Given the description of an element on the screen output the (x, y) to click on. 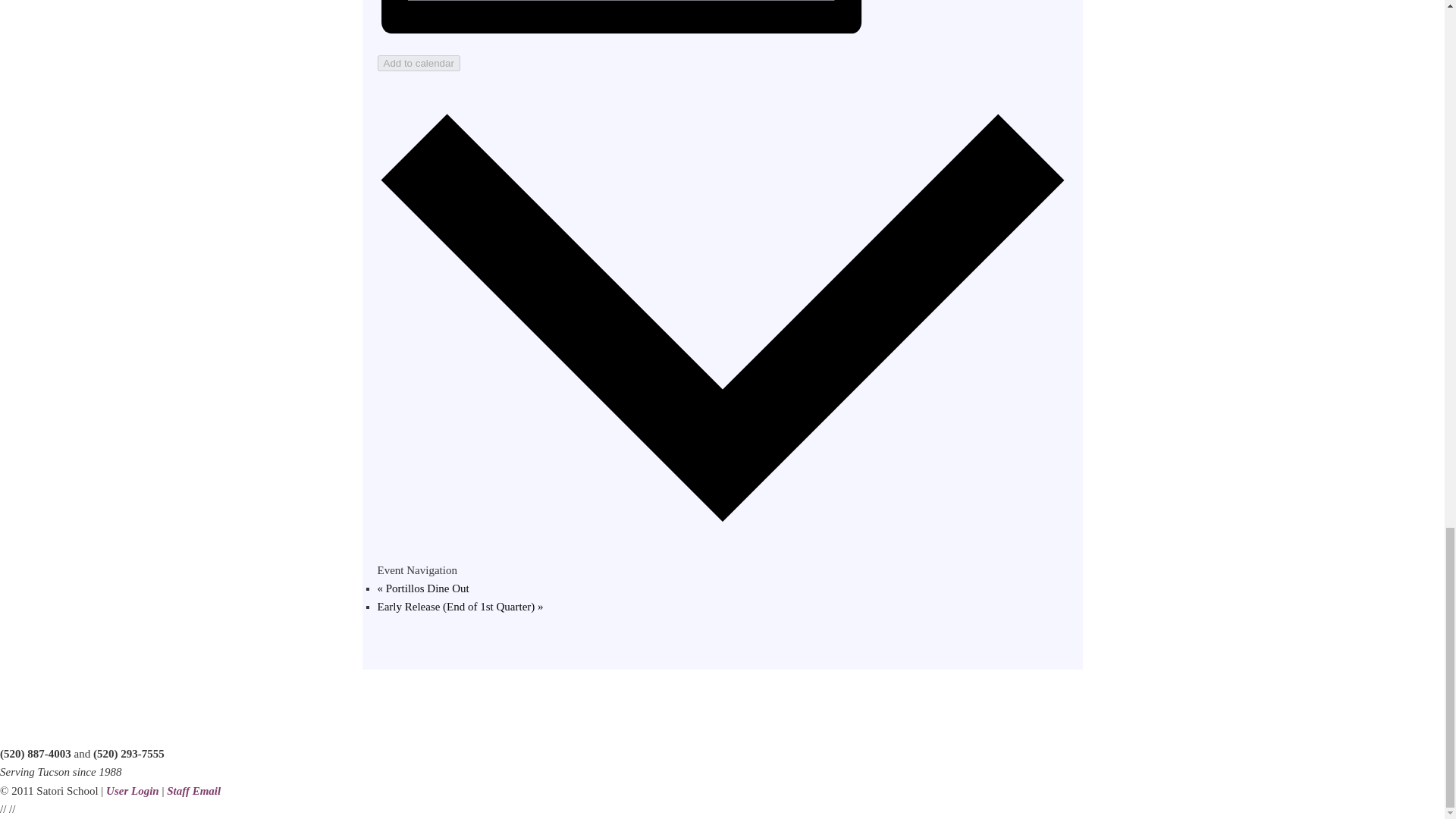
Add to calendar (418, 63)
